Given the description of an element on the screen output the (x, y) to click on. 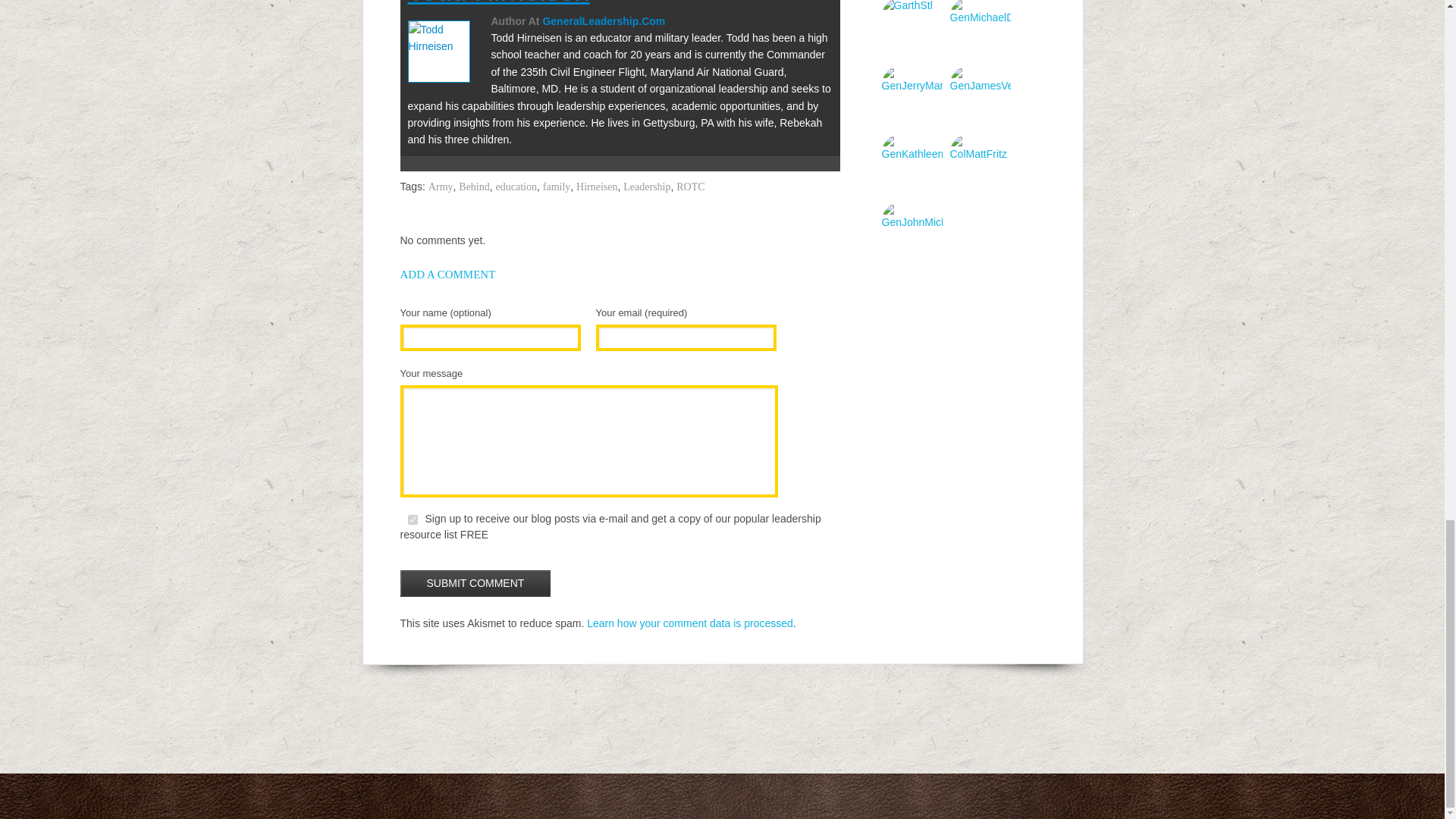
Submit Comment (475, 583)
Todd Hirneisen (498, 3)
1 (412, 519)
